Given the description of an element on the screen output the (x, y) to click on. 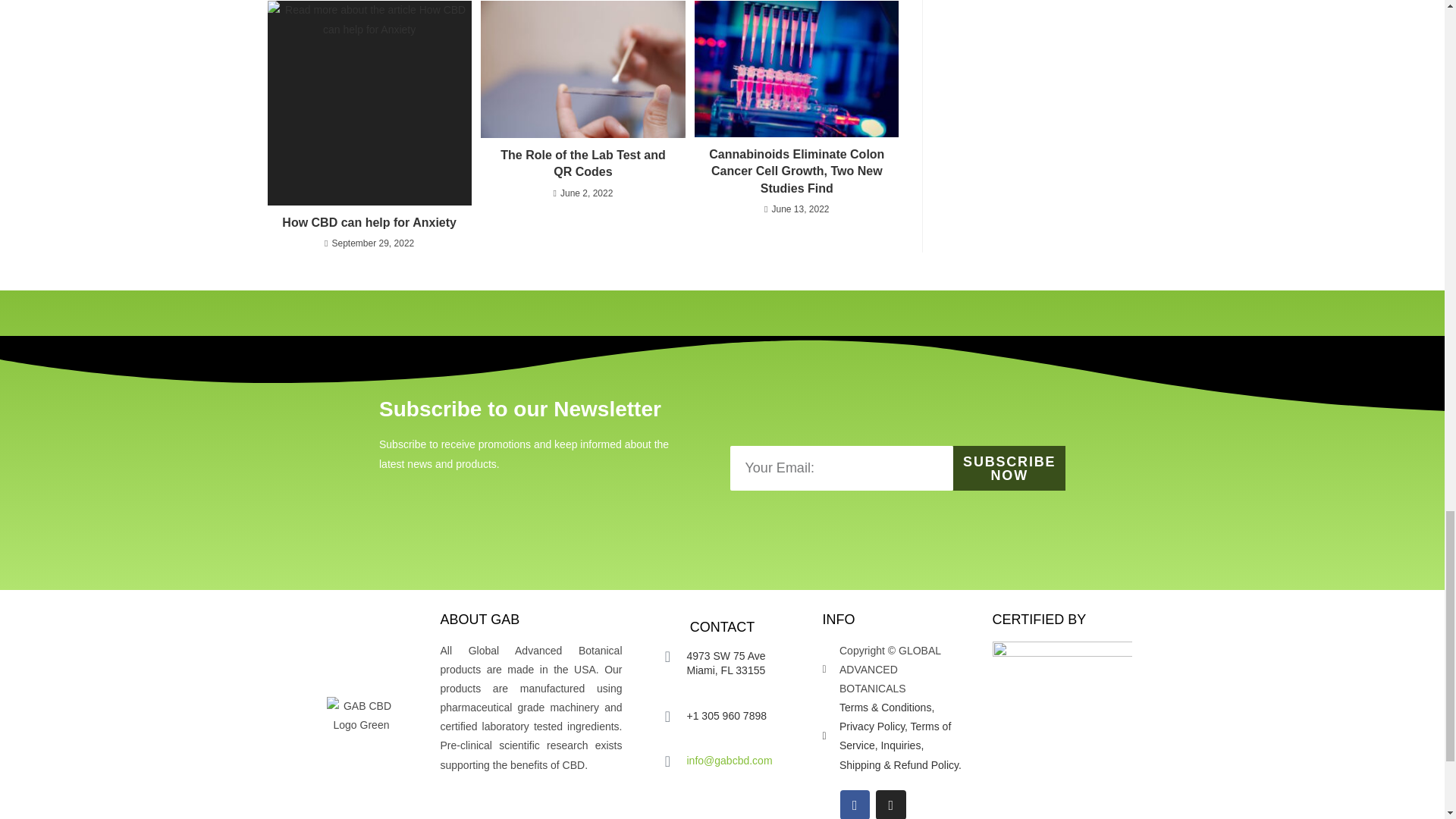
SUBSCRIBE NOW (1008, 467)
How CBD can help for Anxiety (368, 222)
The Role of the Lab Test and QR Codes (582, 163)
GAB CBD (361, 715)
